Given the description of an element on the screen output the (x, y) to click on. 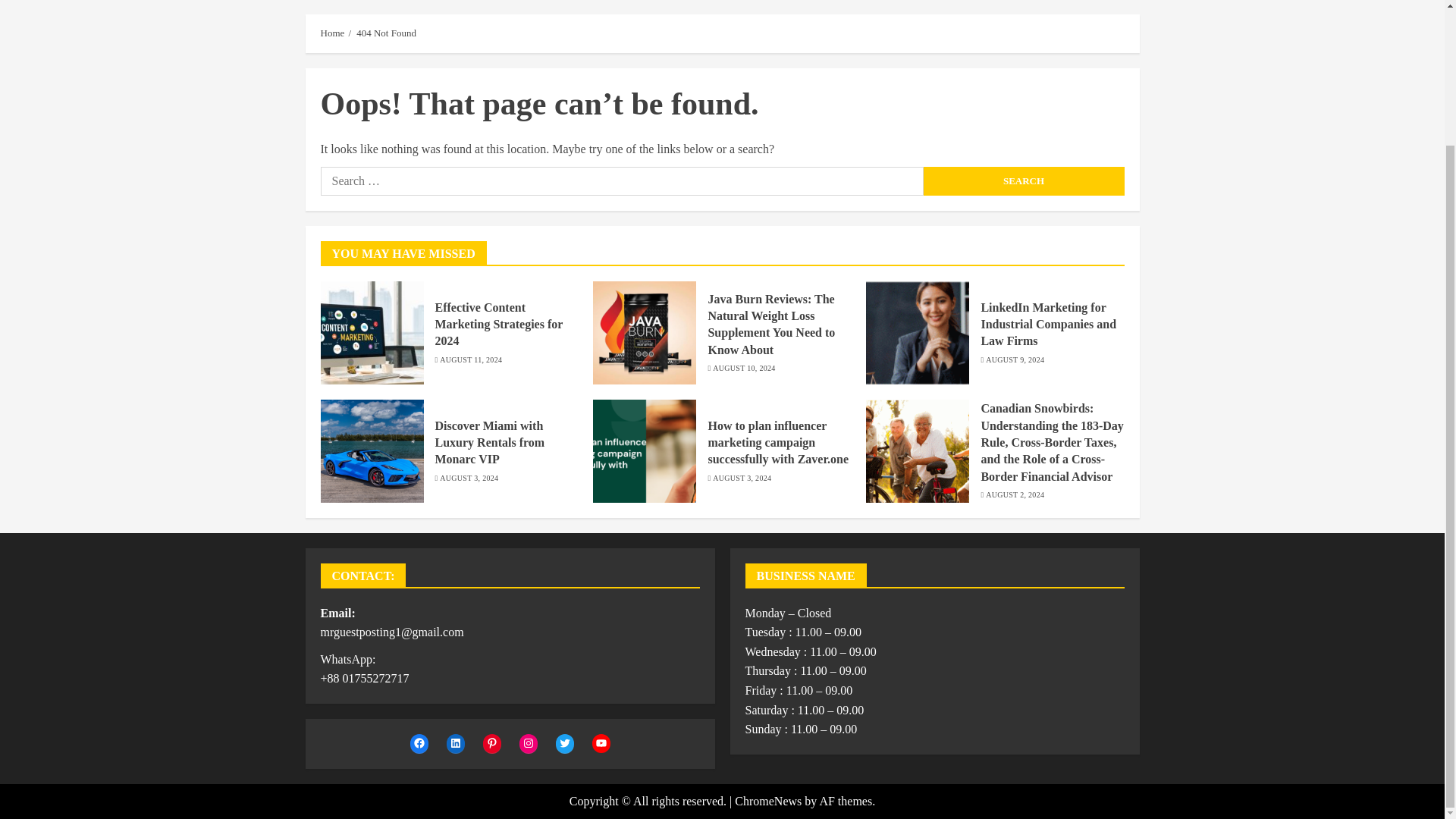
AUGUST 2, 2024 (1014, 494)
Home (331, 33)
AUGUST 9, 2024 (1014, 359)
AUGUST 3, 2024 (468, 478)
AUGUST 10, 2024 (743, 368)
AUGUST 3, 2024 (742, 478)
Instagram (527, 742)
404 Not Found (386, 33)
Facebook (418, 742)
